Given the description of an element on the screen output the (x, y) to click on. 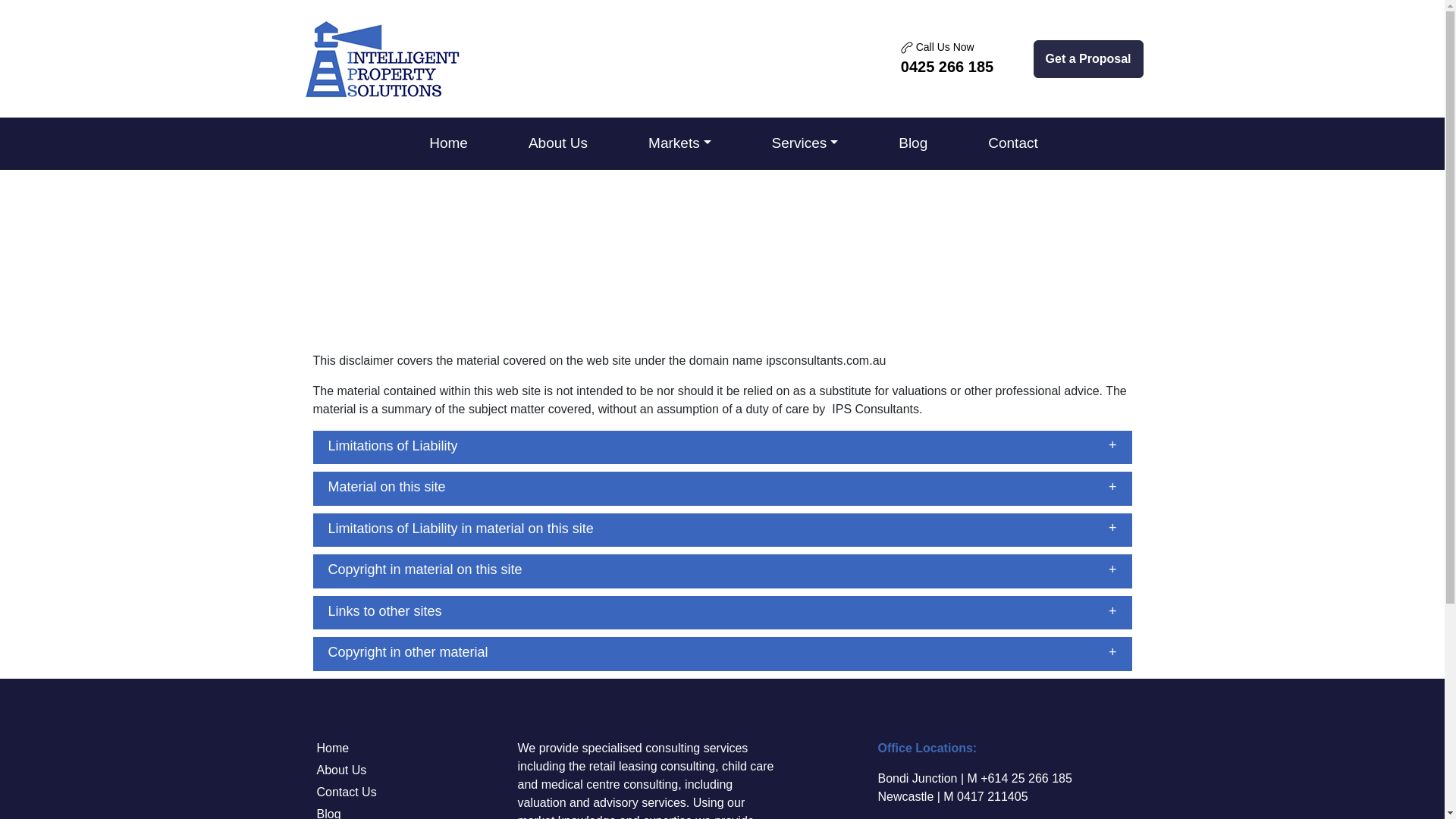
Blog (912, 143)
Contact (1012, 143)
About Us (341, 769)
About Us (557, 143)
About Us (557, 143)
Markets (679, 143)
Services (946, 58)
Home (805, 143)
Markets (333, 748)
